Given the description of an element on the screen output the (x, y) to click on. 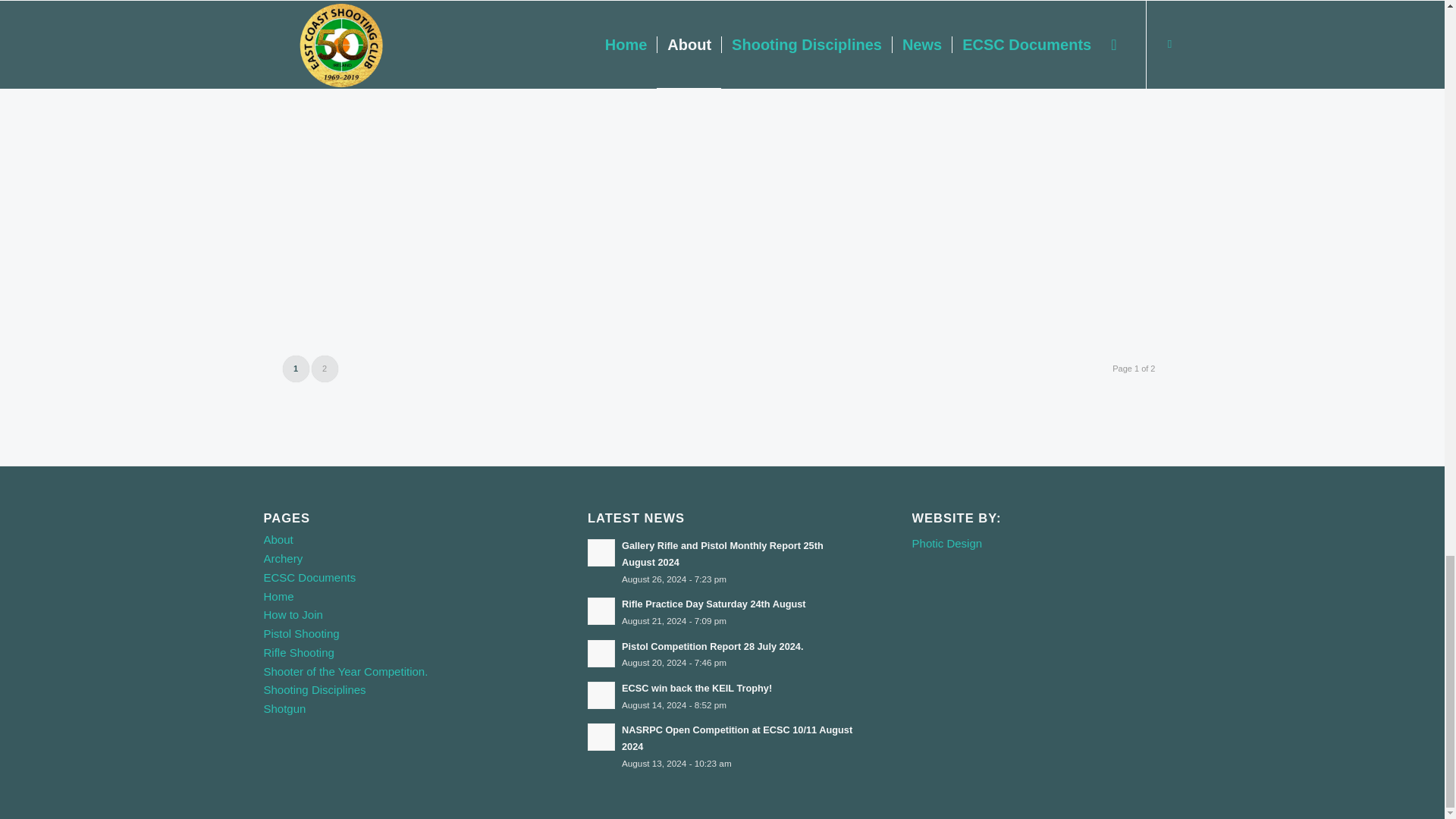
Archery (282, 558)
2 (324, 368)
ECSC Documents (309, 576)
About (278, 539)
Home (278, 595)
